Given the description of an element on the screen output the (x, y) to click on. 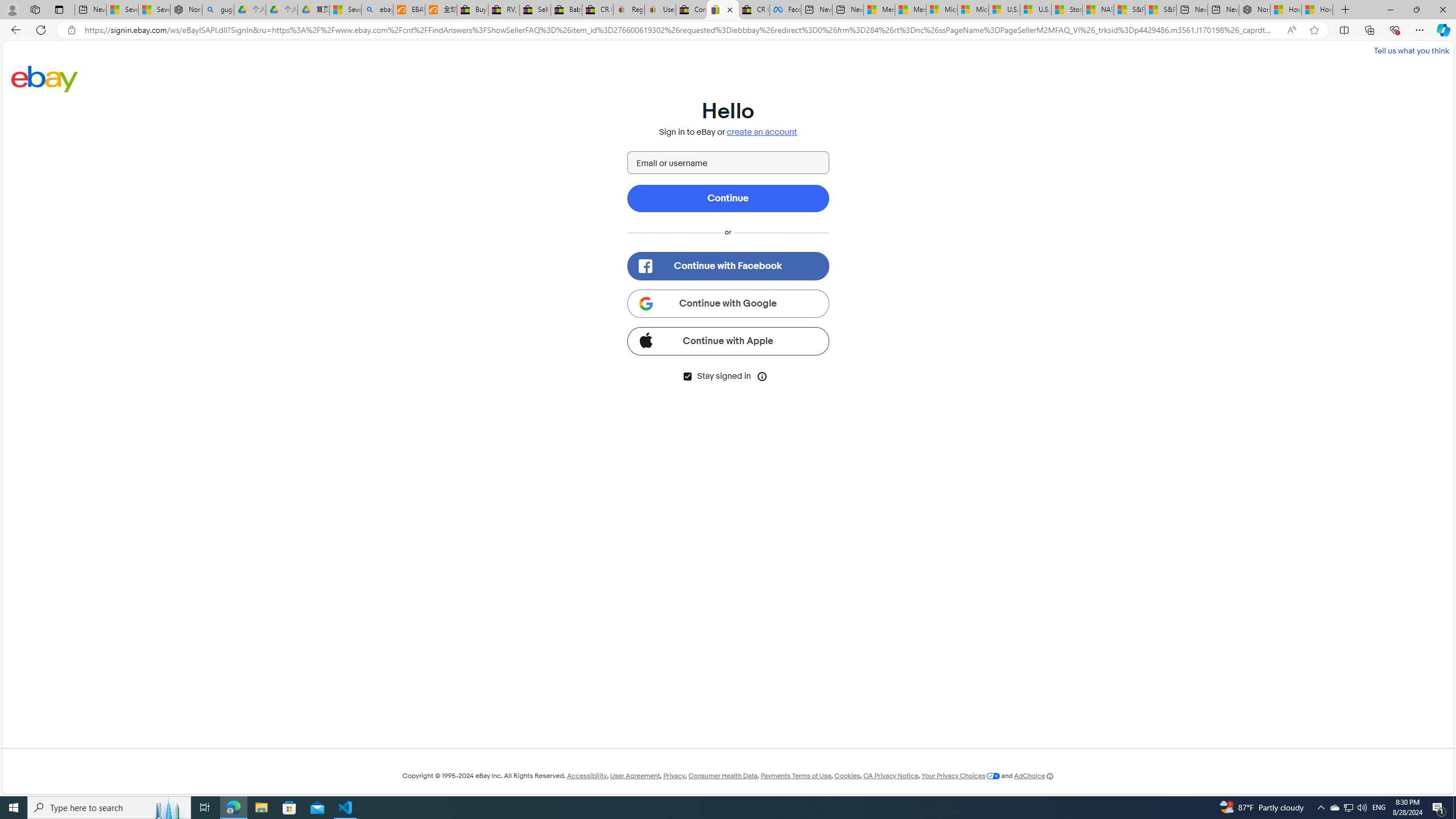
Continue with Apple (727, 340)
Class: icon-btn tooltip__host icon-btn--transparent (762, 375)
Continue with Facebook (727, 266)
Class: fb-icon (644, 265)
RV, Trailer & Camper Steps & Ladders for sale | eBay (503, 9)
Baby Keepsakes & Announcements for sale | eBay (566, 9)
AdChoice (1033, 775)
Consumer Health Data (722, 775)
Continue with Google (727, 303)
